Given the description of an element on the screen output the (x, y) to click on. 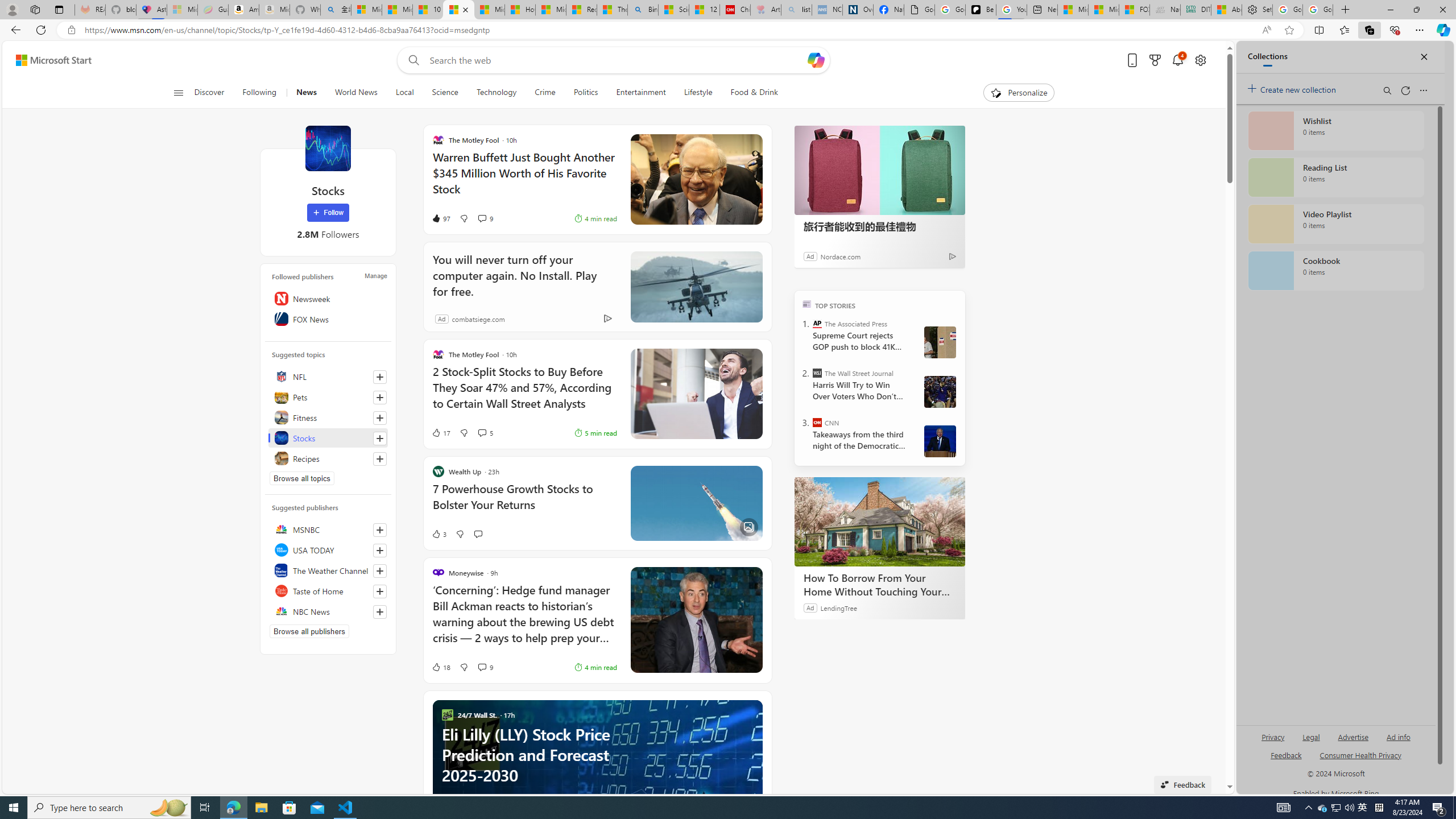
Local (403, 92)
Entertainment (640, 92)
DITOGAMES AG Imprint (1194, 9)
View comments 5 Comment (481, 432)
Class: button-glyph (178, 92)
